Given the description of an element on the screen output the (x, y) to click on. 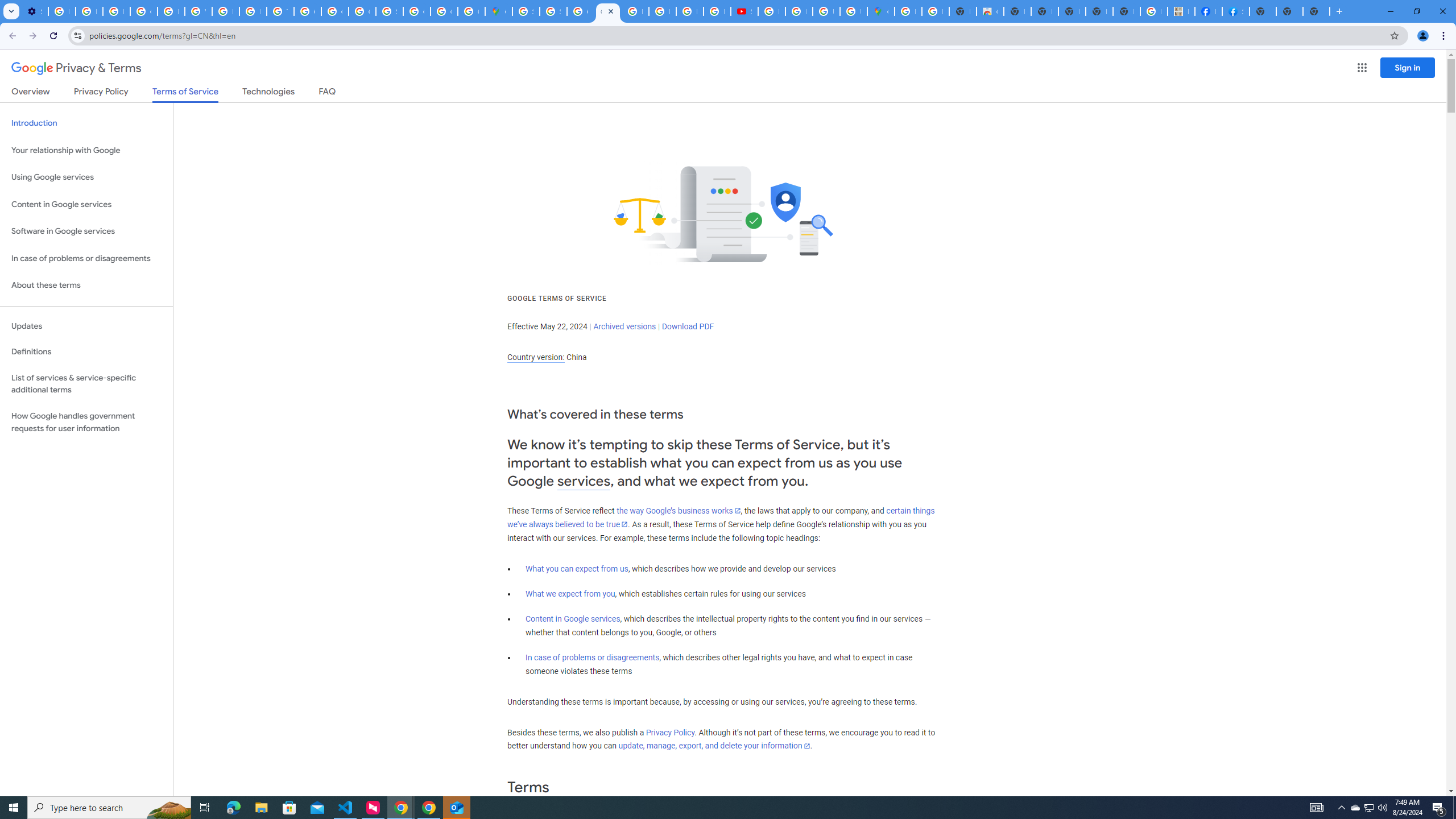
Blogger Policies and Guidelines - Transparency Center (634, 11)
Privacy Help Center - Policies Help (690, 11)
What we expect from you (570, 593)
Privacy Help Center - Policies Help (253, 11)
Delete photos & videos - Computer - Google Photos Help (61, 11)
services (583, 480)
Miley Cyrus | Facebook (1208, 11)
